Given the description of an element on the screen output the (x, y) to click on. 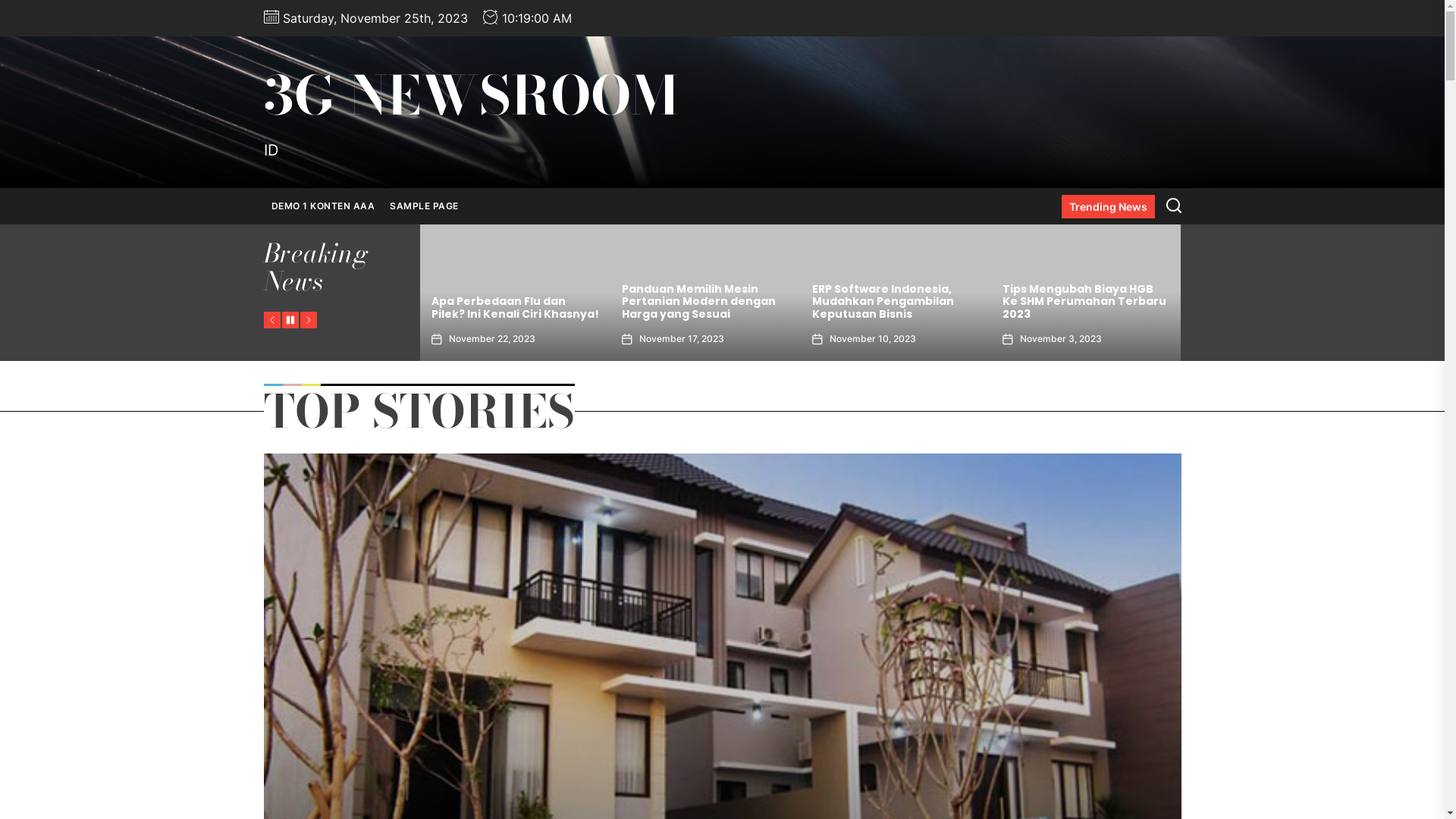
Casa Jardin Cluster, Perumahan Idaman Para Pasangan Muda! Element type: text (694, 301)
November 17, 2023 Element type: text (1061, 338)
3G NEWSROOM Element type: text (470, 95)
DEMO 1 KONTEN AAA Element type: text (322, 206)
Pause Element type: text (290, 319)
Search Element type: text (1173, 205)
Apa Perbedaan Flu dan Pilek? Ini Kenali Ciri Khasnya! Element type: text (895, 307)
Next Element type: text (308, 319)
Previous Element type: text (271, 319)
November 3, 2023 Element type: text (489, 338)
November 25, 2023 Element type: text (682, 338)
Tips Mengubah Biaya HGB Ke SHM Perumahan Terbaru 2023 Element type: text (513, 301)
Trending News Element type: text (1107, 205)
November 22, 2023 Element type: text (872, 338)
SAMPLE PAGE Element type: text (424, 206)
